Given the description of an element on the screen output the (x, y) to click on. 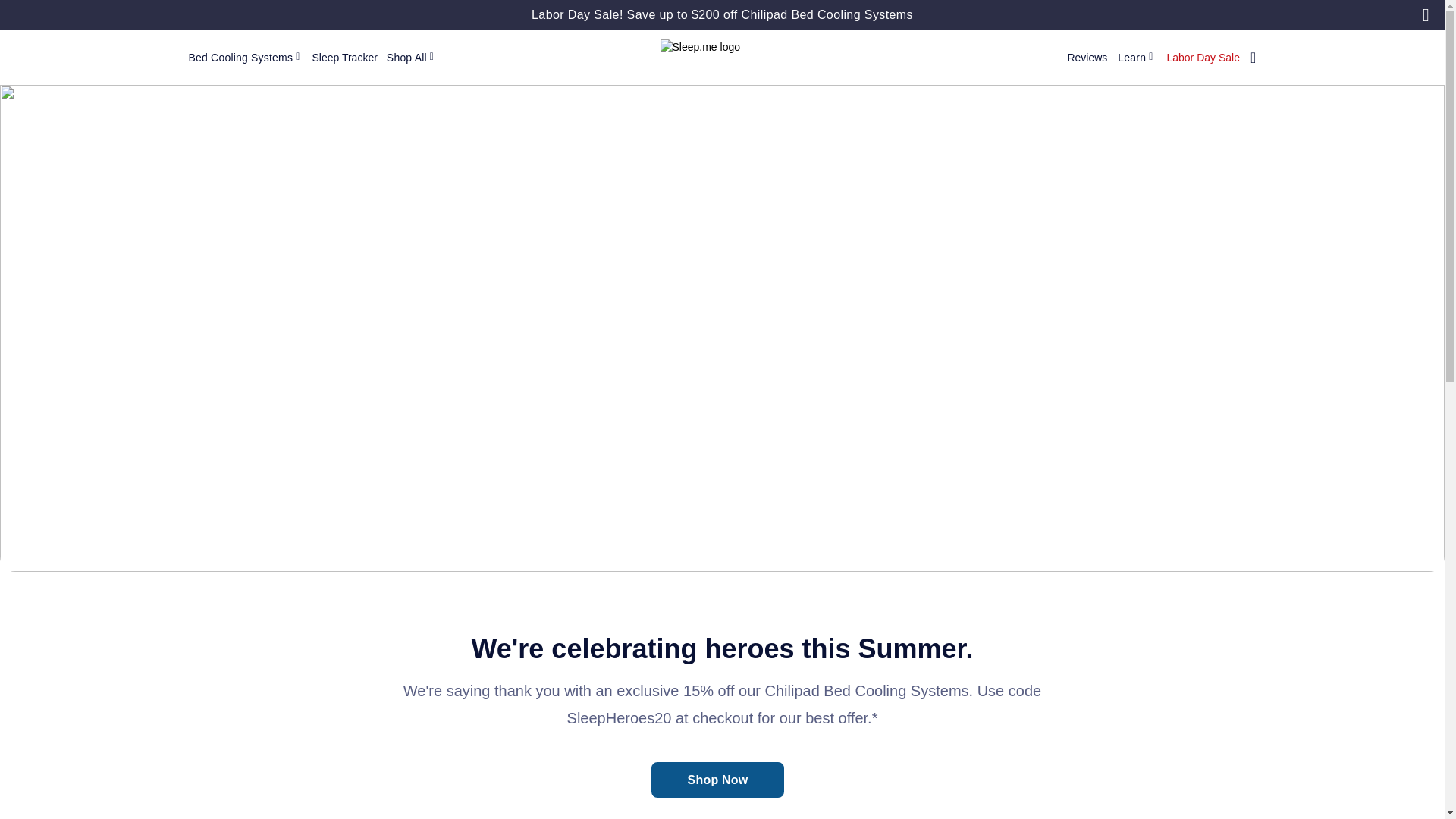
Bed Cooling Systems (244, 57)
Shop Now (717, 779)
Learn (1137, 57)
Labor Day Sale (1203, 57)
Shop All (411, 57)
Open user menu (1248, 57)
Sleep Tracker (344, 57)
Reviews (1086, 57)
